Given the description of an element on the screen output the (x, y) to click on. 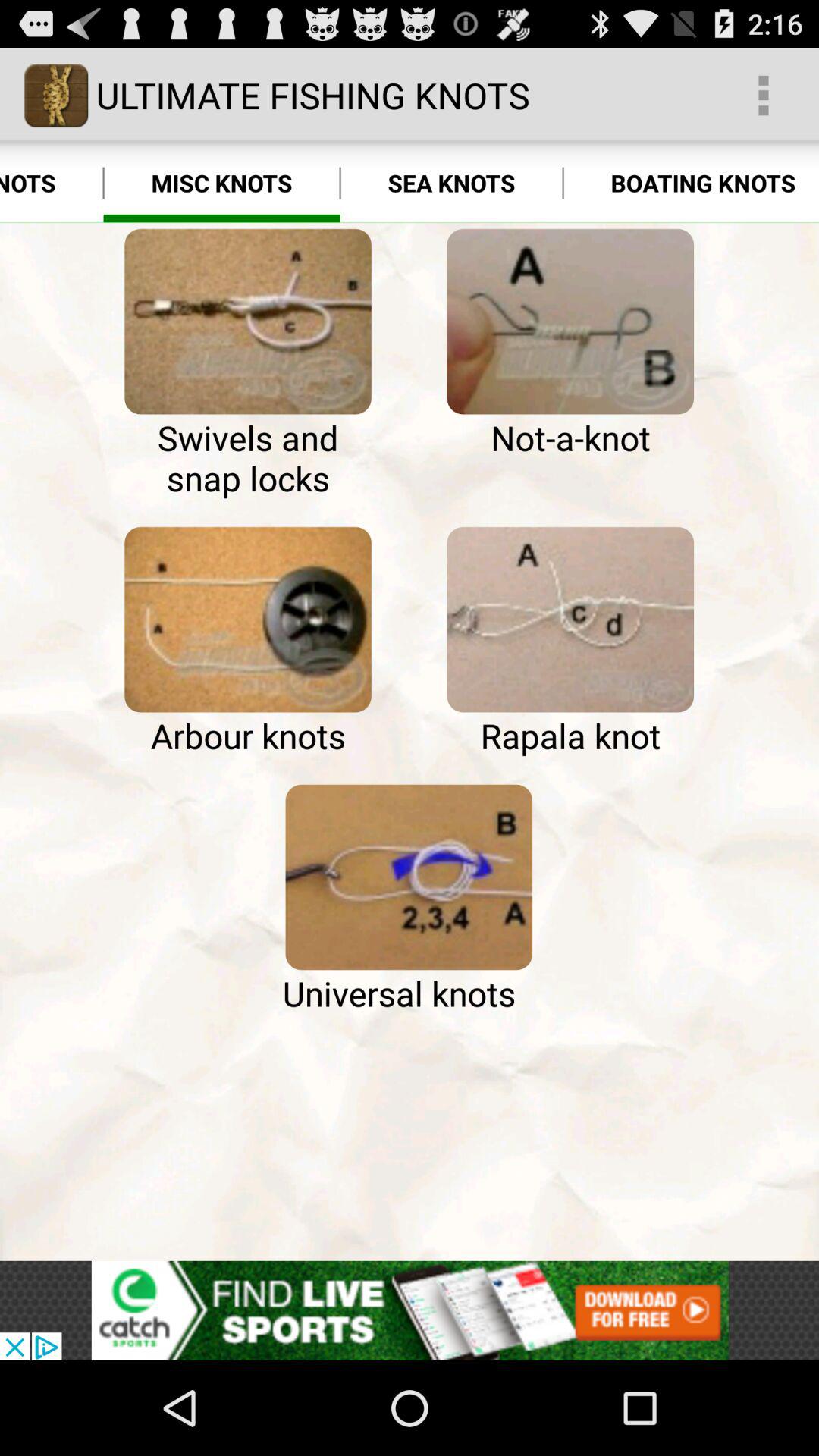
turn off the app to the left of the sea knots icon (221, 182)
